Given the description of an element on the screen output the (x, y) to click on. 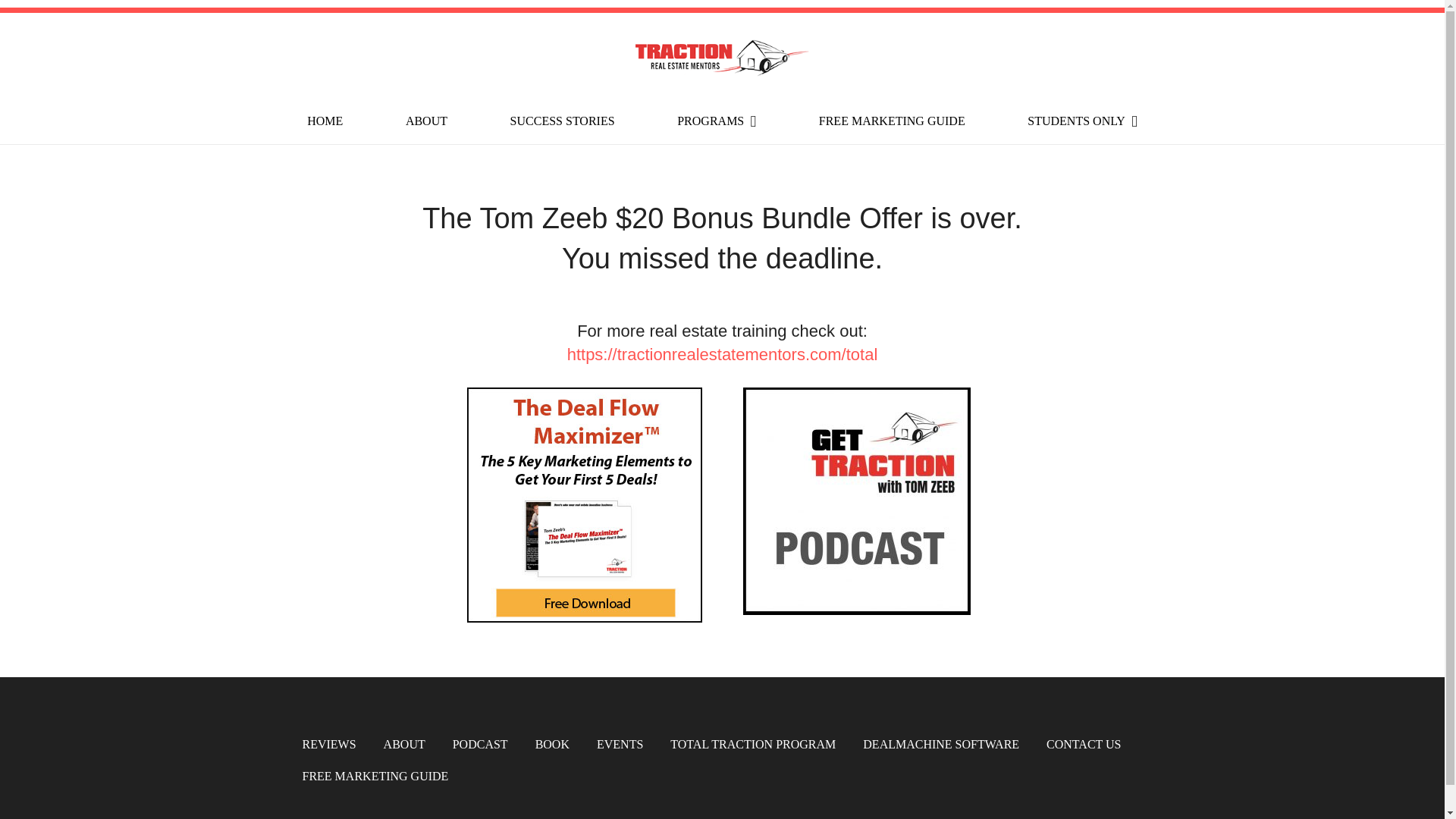
ABOUT (404, 744)
REVIEWS (328, 744)
EVENTS (619, 744)
STUDENTS ONLY (1082, 121)
TOTAL TRACTION PROGRAM (752, 744)
Hurricane Bonus Bundle 2 (856, 501)
PODCAST (480, 744)
BOOK (552, 744)
FREE MARKETING GUIDE (892, 121)
ABOUT (426, 121)
DEALMACHINE SOFTWARE (941, 744)
SUCCESS STORIES (562, 121)
FREE MARKETING GUIDE (374, 775)
CONTACT US (1083, 744)
HOME (324, 121)
